Given the description of an element on the screen output the (x, y) to click on. 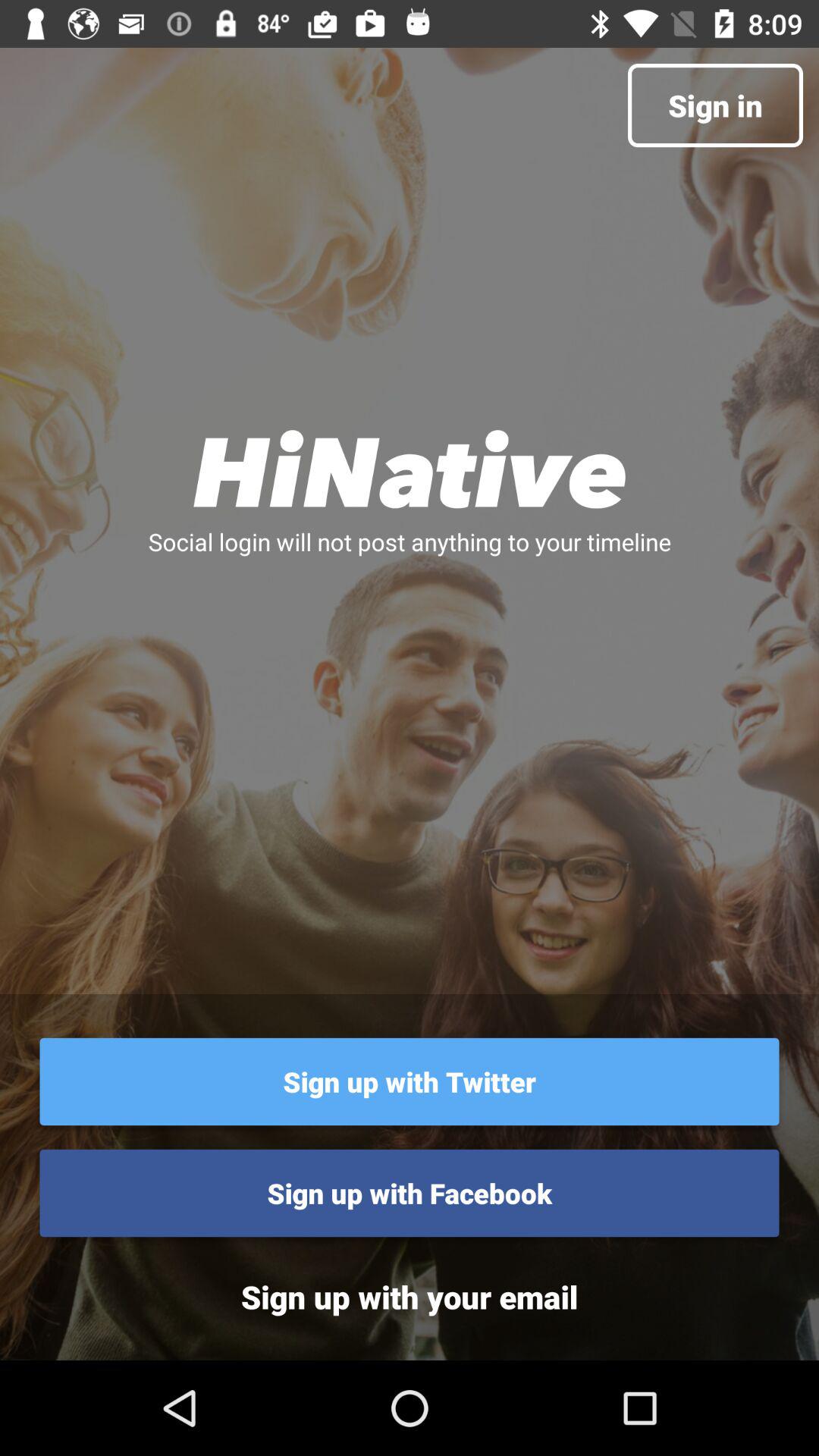
turn off the icon above the social login will icon (409, 468)
